Given the description of an element on the screen output the (x, y) to click on. 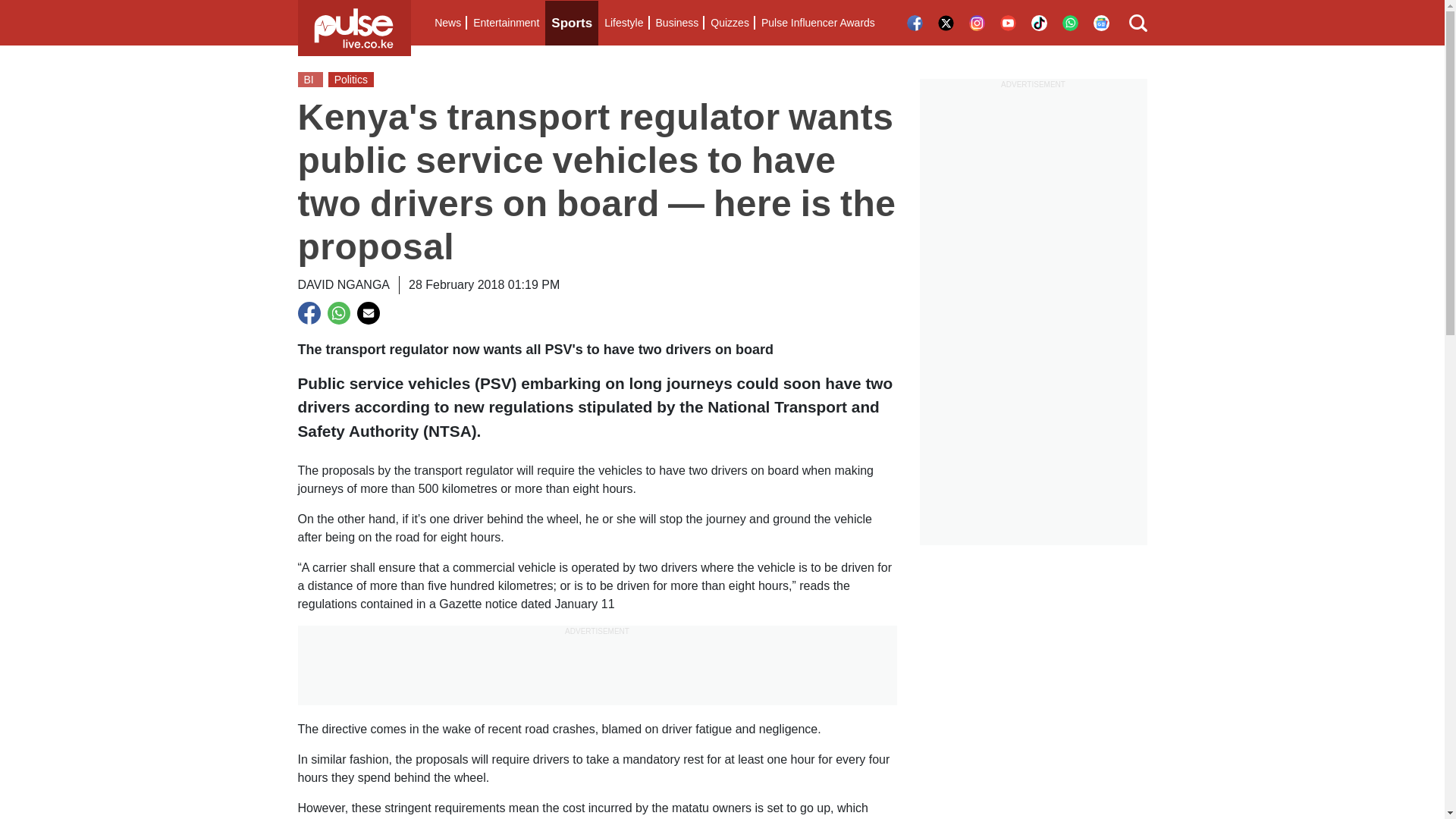
Lifestyle (623, 22)
Entertainment (505, 22)
Quizzes (729, 22)
Business (676, 22)
Pulse Influencer Awards (817, 22)
Sports (571, 22)
